Given the description of an element on the screen output the (x, y) to click on. 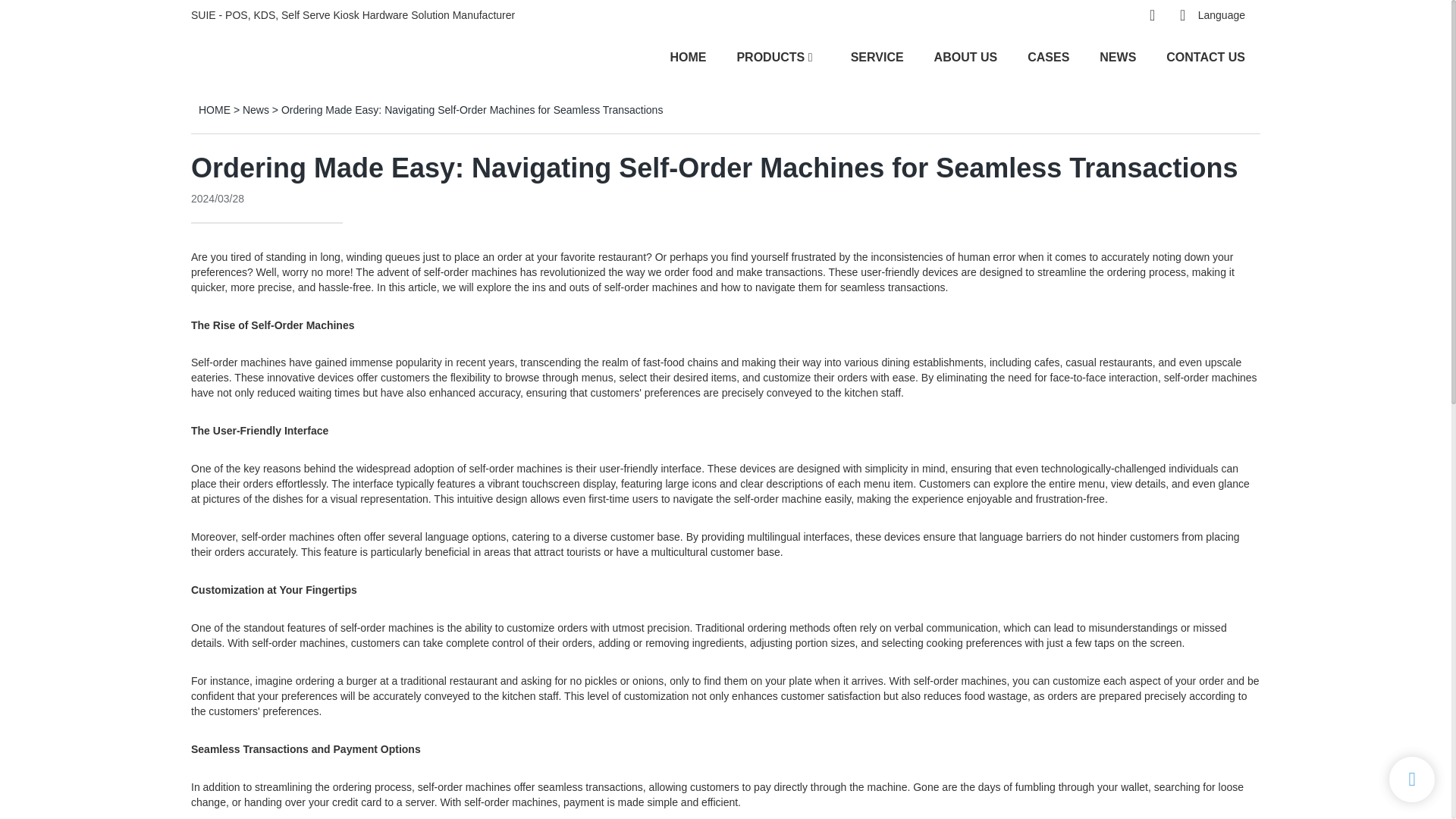
CONTACT US (1205, 56)
News (256, 110)
NEWS (1117, 56)
ABOUT US (965, 56)
CASES (1047, 56)
HOME (687, 56)
SERVICE (877, 56)
PRODUCTS (770, 56)
HOME (214, 110)
